Given the description of an element on the screen output the (x, y) to click on. 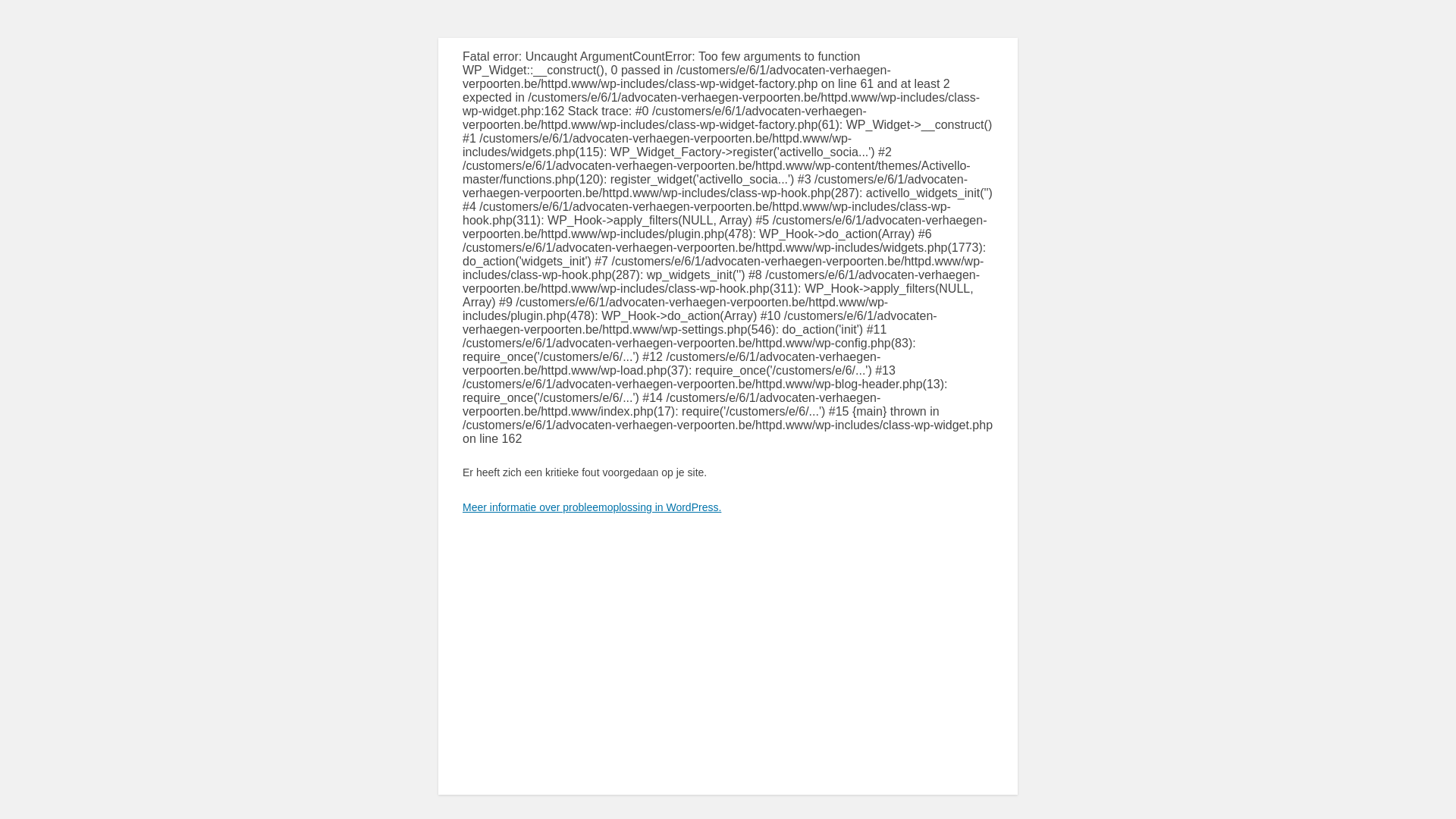
Meer informatie over probleemoplossing in WordPress. Element type: text (591, 507)
